Given the description of an element on the screen output the (x, y) to click on. 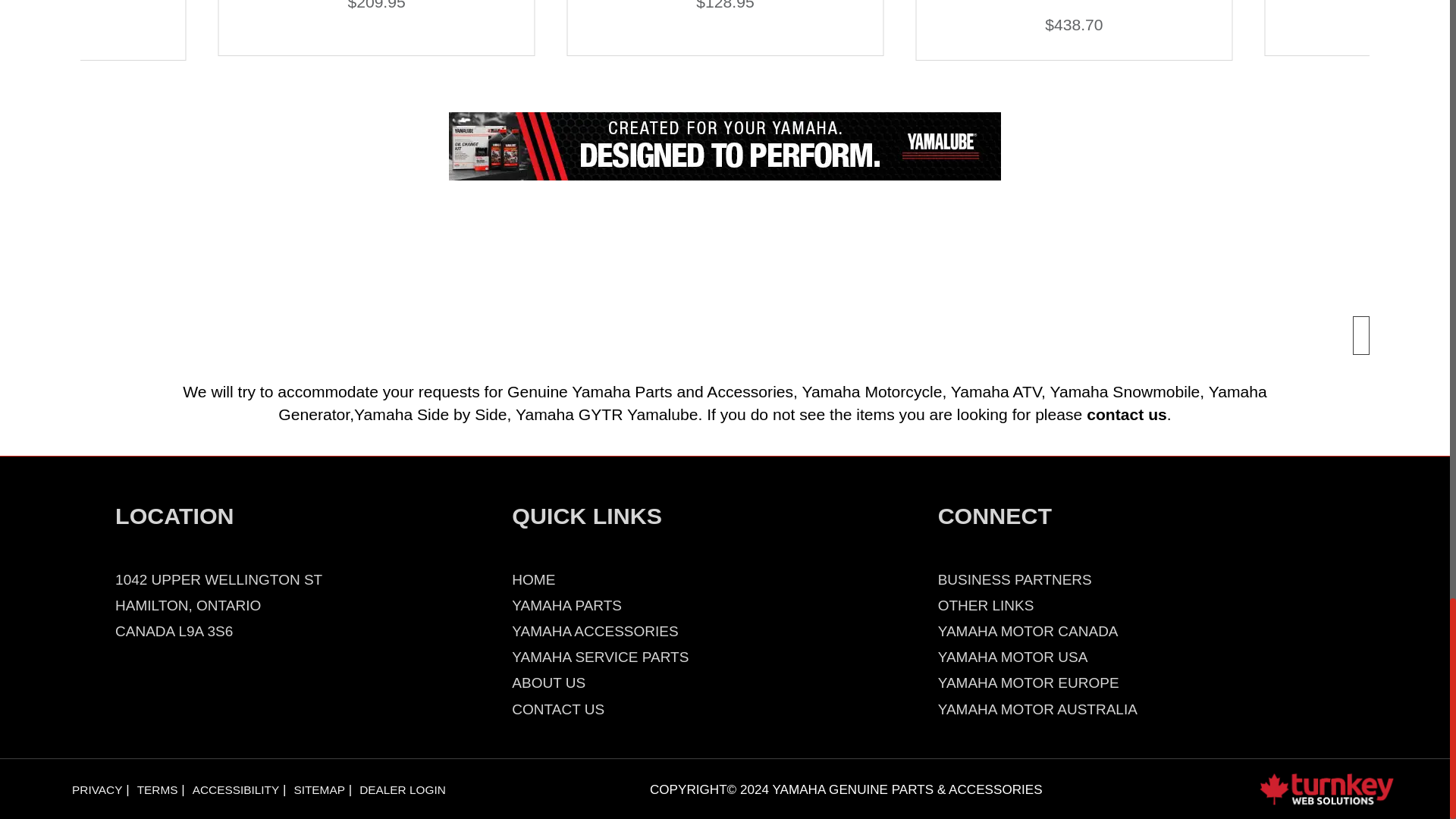
Turnkey Web Solutions (1326, 788)
